Given the description of an element on the screen output the (x, y) to click on. 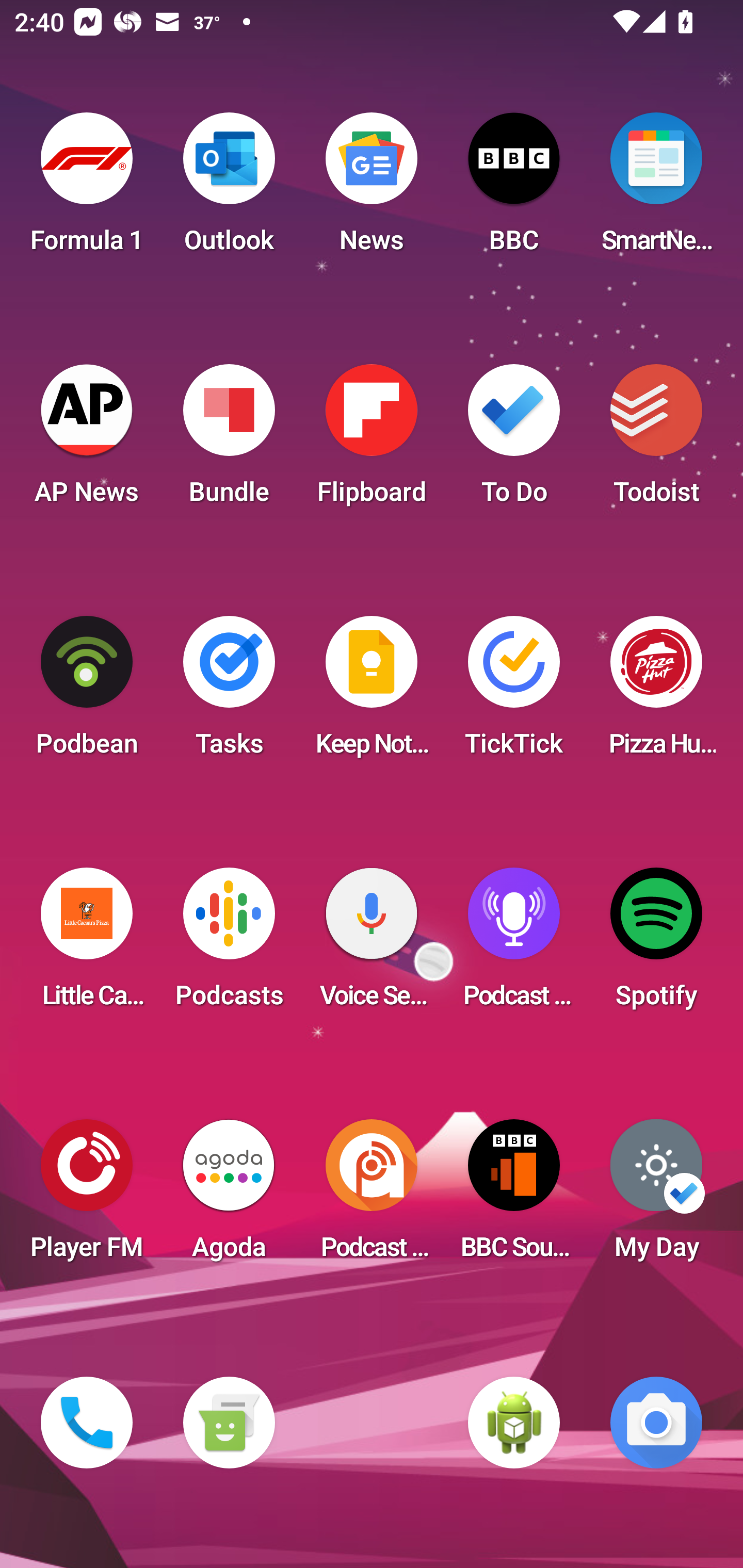
Formula 1 (86, 188)
Outlook (228, 188)
News (371, 188)
BBC (513, 188)
SmartNews (656, 188)
AP News (86, 440)
Bundle (228, 440)
Flipboard (371, 440)
To Do (513, 440)
Todoist (656, 440)
Podbean (86, 692)
Tasks (228, 692)
Keep Notes (371, 692)
TickTick (513, 692)
Pizza Hut HK & Macau (656, 692)
Little Caesars Pizza (86, 943)
Podcasts (228, 943)
Voice Search (371, 943)
Podcast Player (513, 943)
Spotify (656, 943)
Player FM (86, 1195)
Agoda (228, 1195)
Podcast Addict (371, 1195)
BBC Sounds (513, 1195)
My Day (656, 1195)
Phone (86, 1422)
Messaging (228, 1422)
WebView Browser Tester (513, 1422)
Camera (656, 1422)
